Given the description of an element on the screen output the (x, y) to click on. 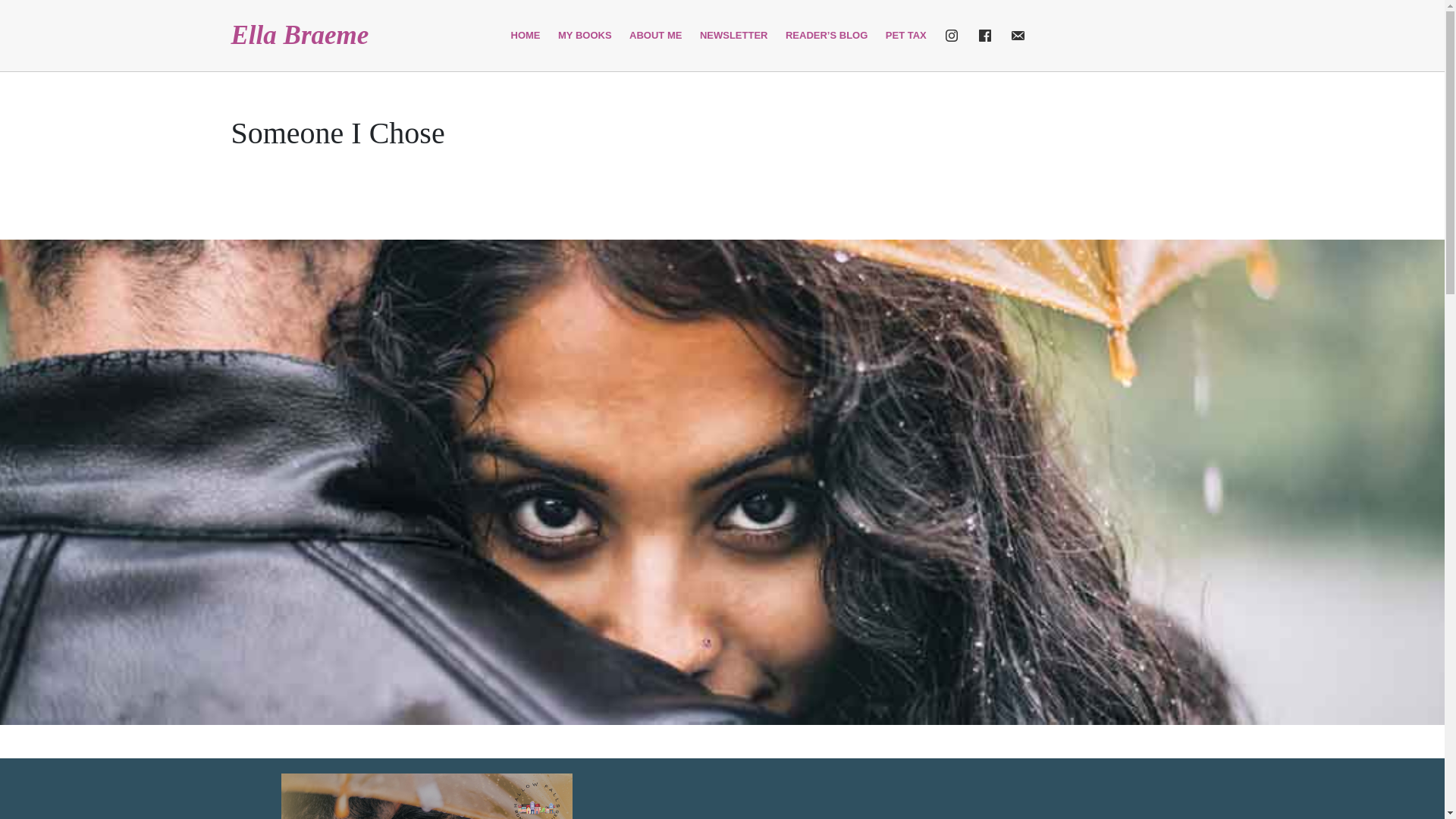
PET TAX (905, 35)
NEWSLETTER (734, 35)
MY BOOKS (585, 35)
Ella Braeme (299, 34)
HOME (525, 35)
ABOUT ME (654, 35)
